Given the description of an element on the screen output the (x, y) to click on. 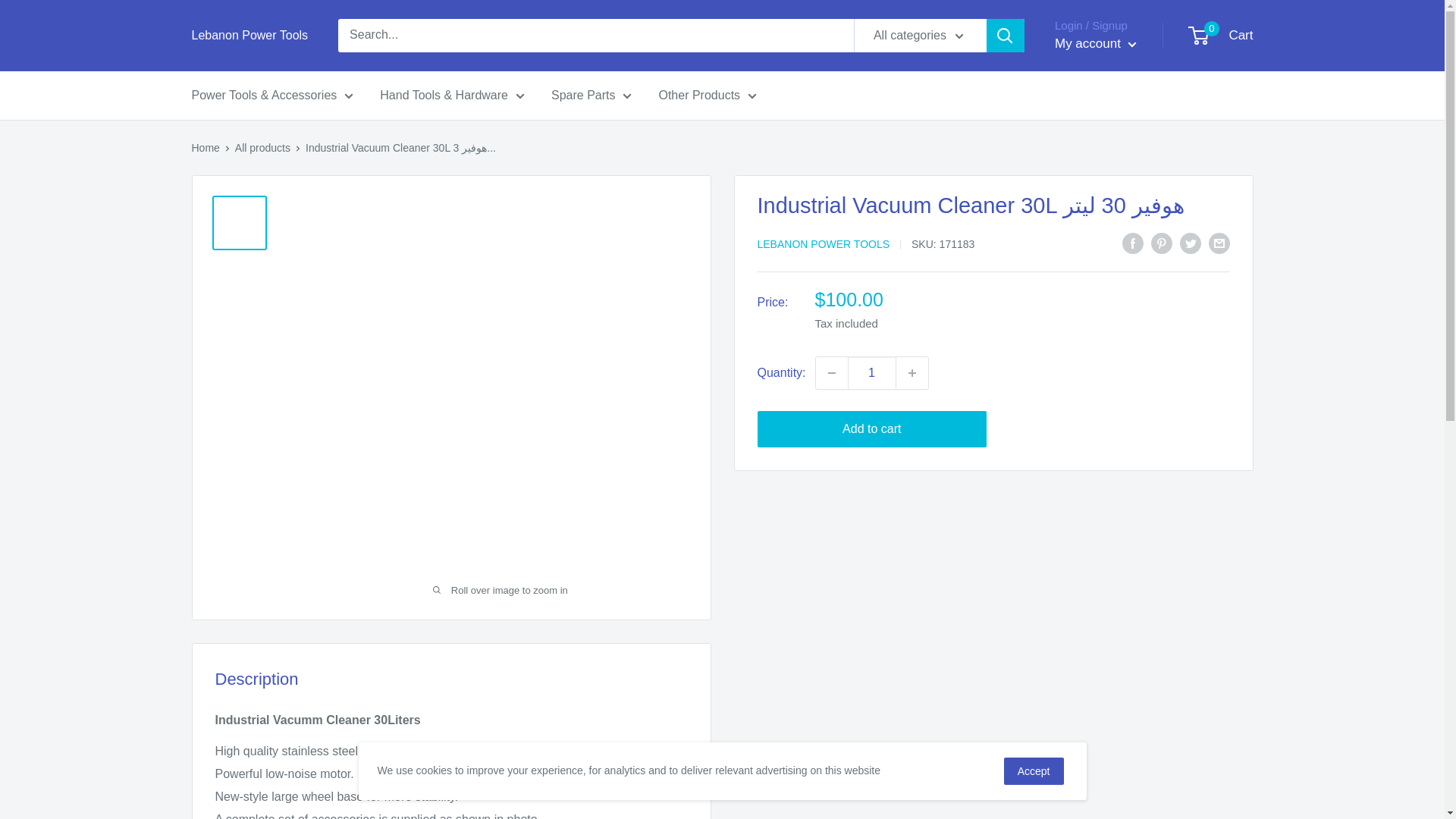
1 (871, 372)
Decrease quantity by 1 (831, 372)
Increase quantity by 1 (912, 372)
